Given the description of an element on the screen output the (x, y) to click on. 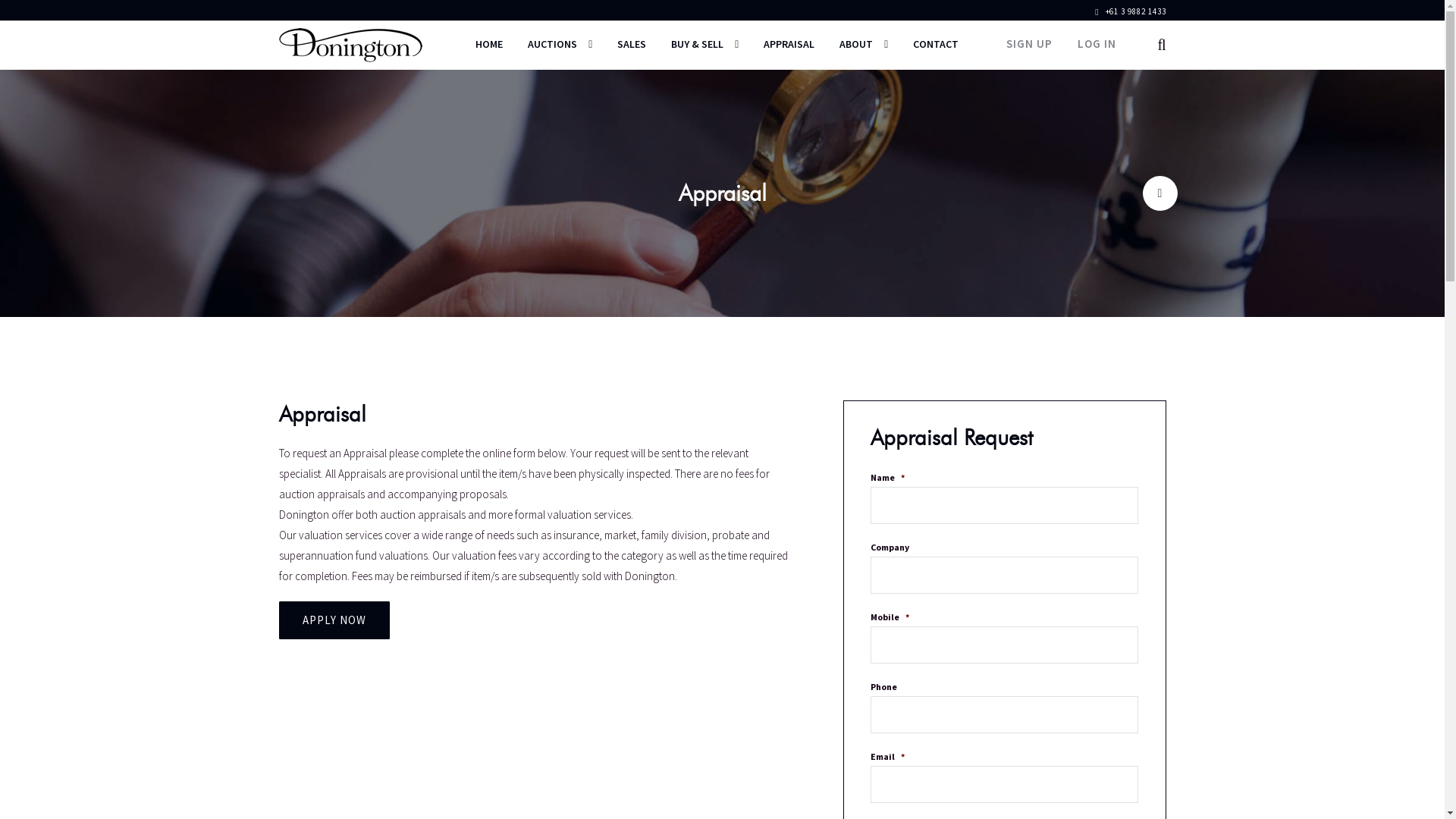
SALES Element type: text (631, 43)
HOME Element type: text (488, 43)
Donington Auctions Element type: hover (350, 43)
AUCTIONS Element type: text (559, 43)
APPRAISAL Element type: text (788, 43)
ABOUT Element type: text (863, 43)
SIGN UP Element type: text (1029, 43)
+61 3 9882 1433 Element type: text (1130, 11)
APPLY NOW Element type: text (334, 620)
BUY & SELL Element type: text (704, 43)
CONTACT Element type: text (935, 43)
LOG IN Element type: text (1096, 43)
Search Element type: text (1102, 33)
